Given the description of an element on the screen output the (x, y) to click on. 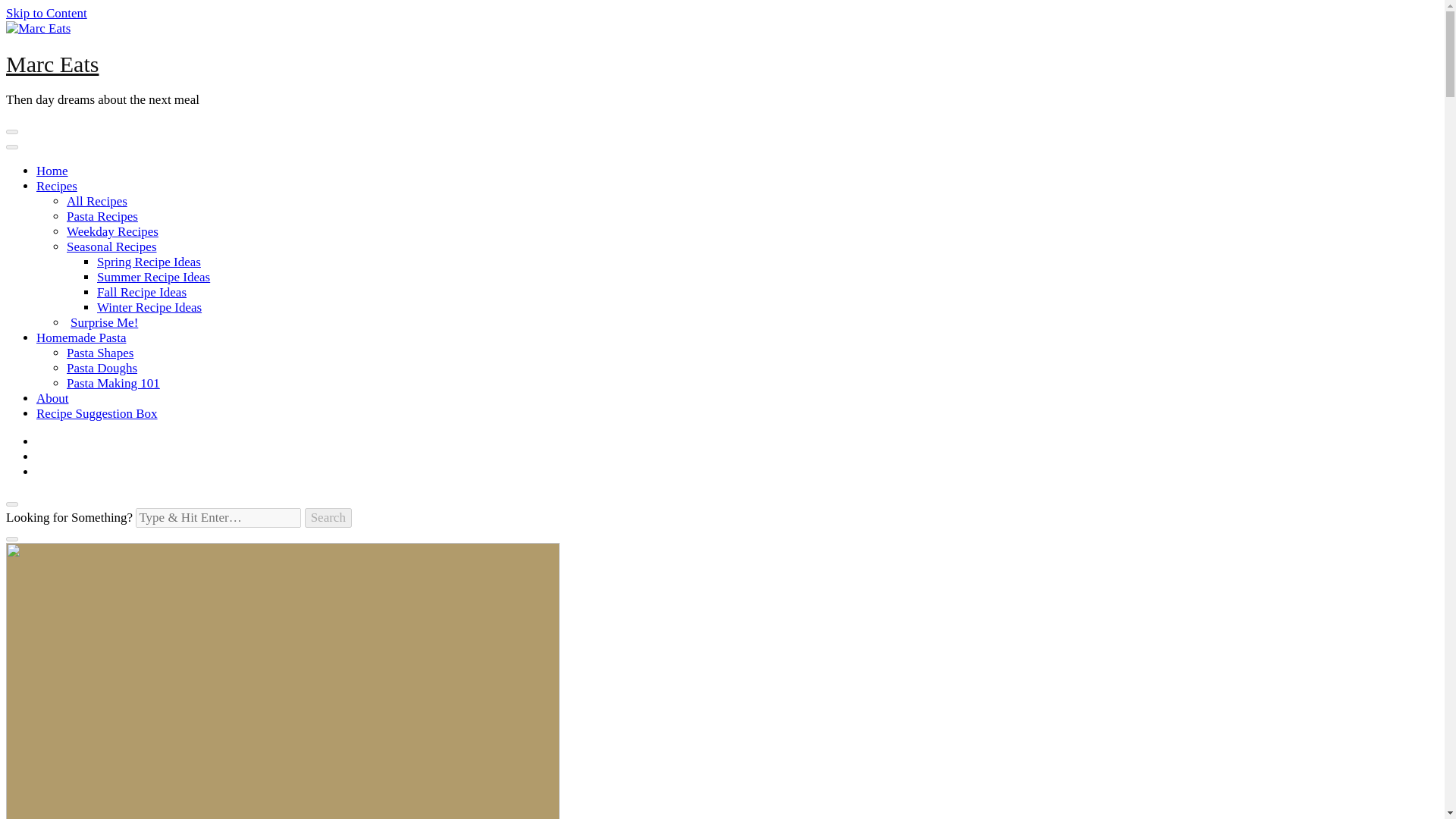
Fall Recipe Ideas (141, 292)
Skip to Content (46, 12)
About (52, 398)
Pasta Recipes (102, 216)
Search (328, 517)
Pasta Making 101 (113, 382)
Winter Recipe Ideas (149, 307)
Surprise Me! (102, 322)
Pasta Doughs (101, 368)
Summer Recipe Ideas (153, 277)
